Given the description of an element on the screen output the (x, y) to click on. 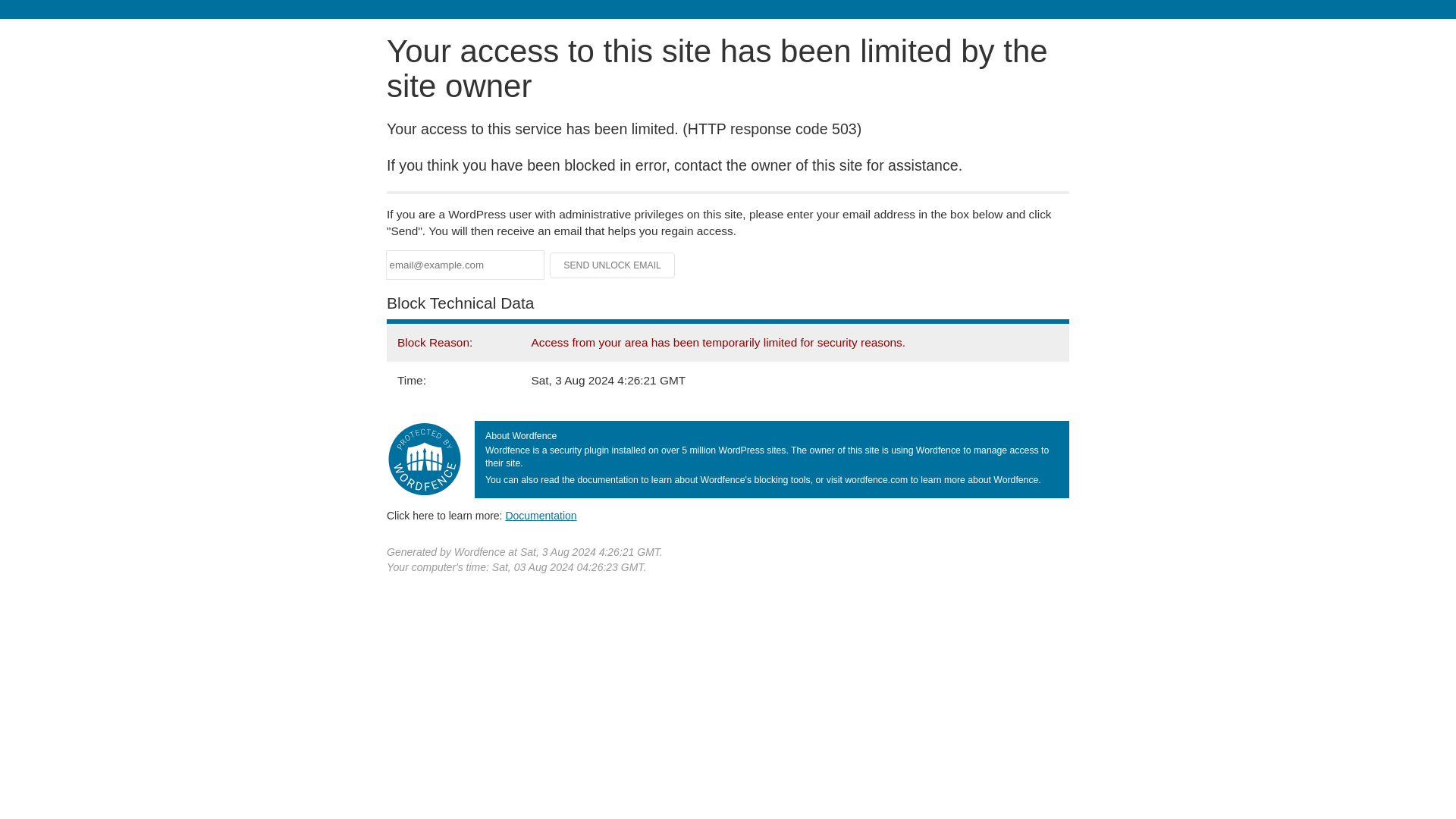
Documentation (540, 515)
Send Unlock Email (612, 265)
Send Unlock Email (612, 265)
